Given the description of an element on the screen output the (x, y) to click on. 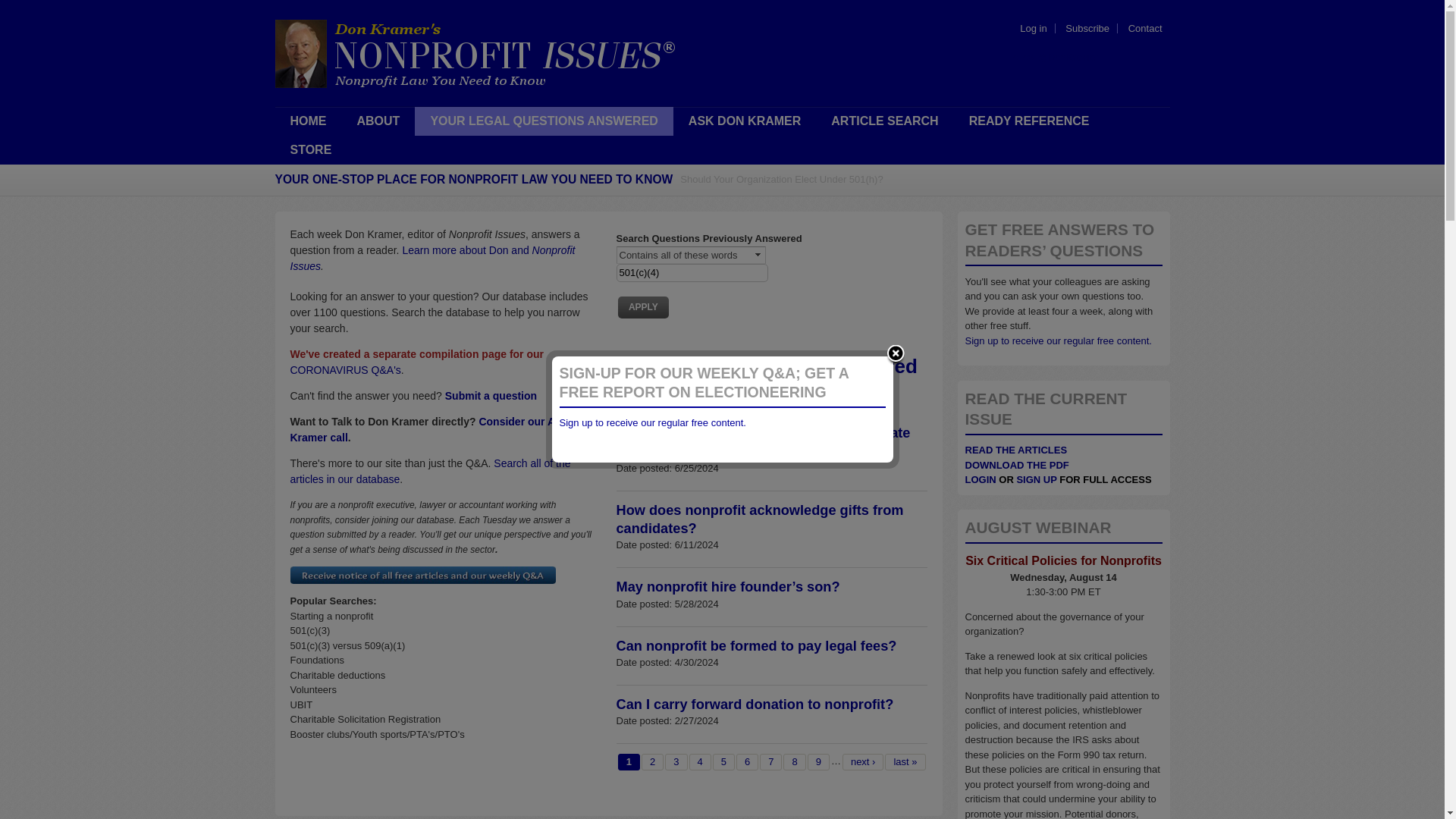
ABOUT (377, 121)
HOME (307, 121)
Log in (1032, 28)
How does nonprofit acknowledge gifts from candidates? (758, 519)
Contact (1145, 28)
Go to page 9 (818, 761)
Go to page 4 (699, 761)
YOUR LEGAL QUESTIONS ANSWERED (543, 121)
Nonprofit Issues (432, 257)
Go to page 2 (652, 761)
Skip to main content (677, 1)
Go to page 7 (770, 761)
ARTICLE SEARCH (884, 121)
STORE (310, 149)
